Given the description of an element on the screen output the (x, y) to click on. 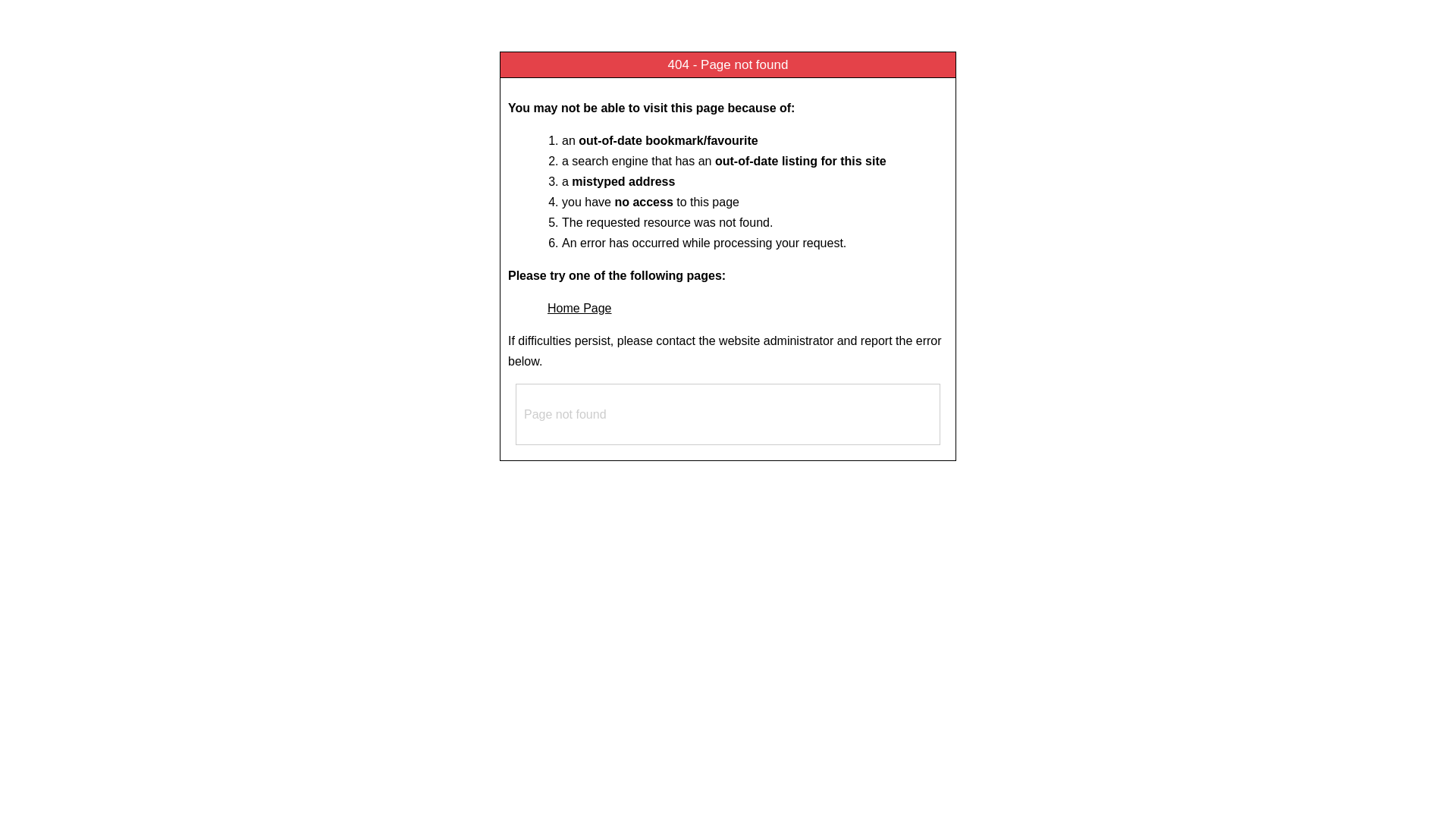
Home Page Element type: text (579, 307)
